Given the description of an element on the screen output the (x, y) to click on. 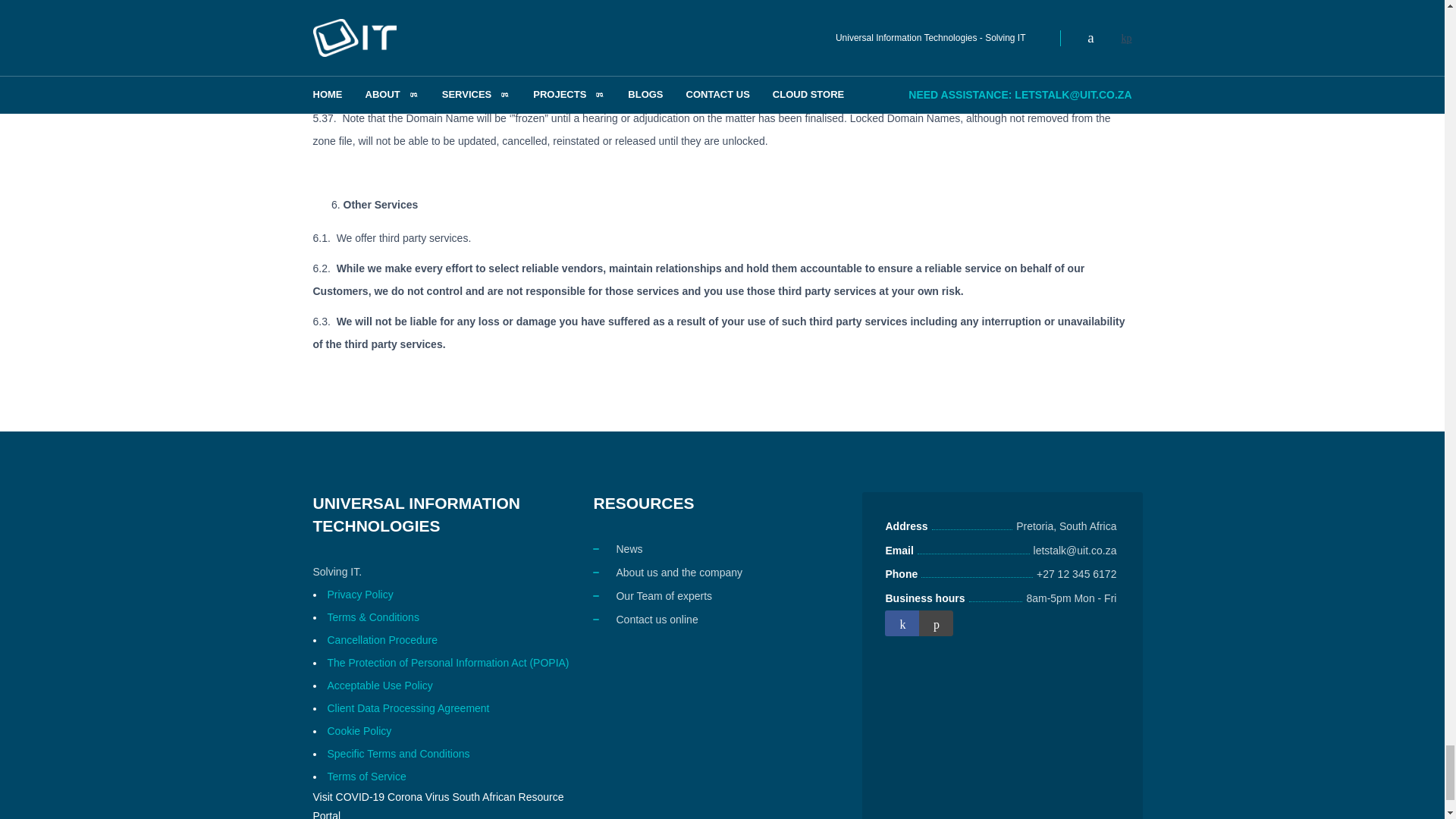
Client Data Processing Agreement (408, 707)
News (628, 548)
Cookie Policy (359, 730)
Specific Terms and Conditions (398, 753)
Terms of Service (366, 776)
Acceptable Use Policy (379, 685)
Cancellation Procedure (382, 639)
Privacy Policy (360, 594)
